Given the description of an element on the screen output the (x, y) to click on. 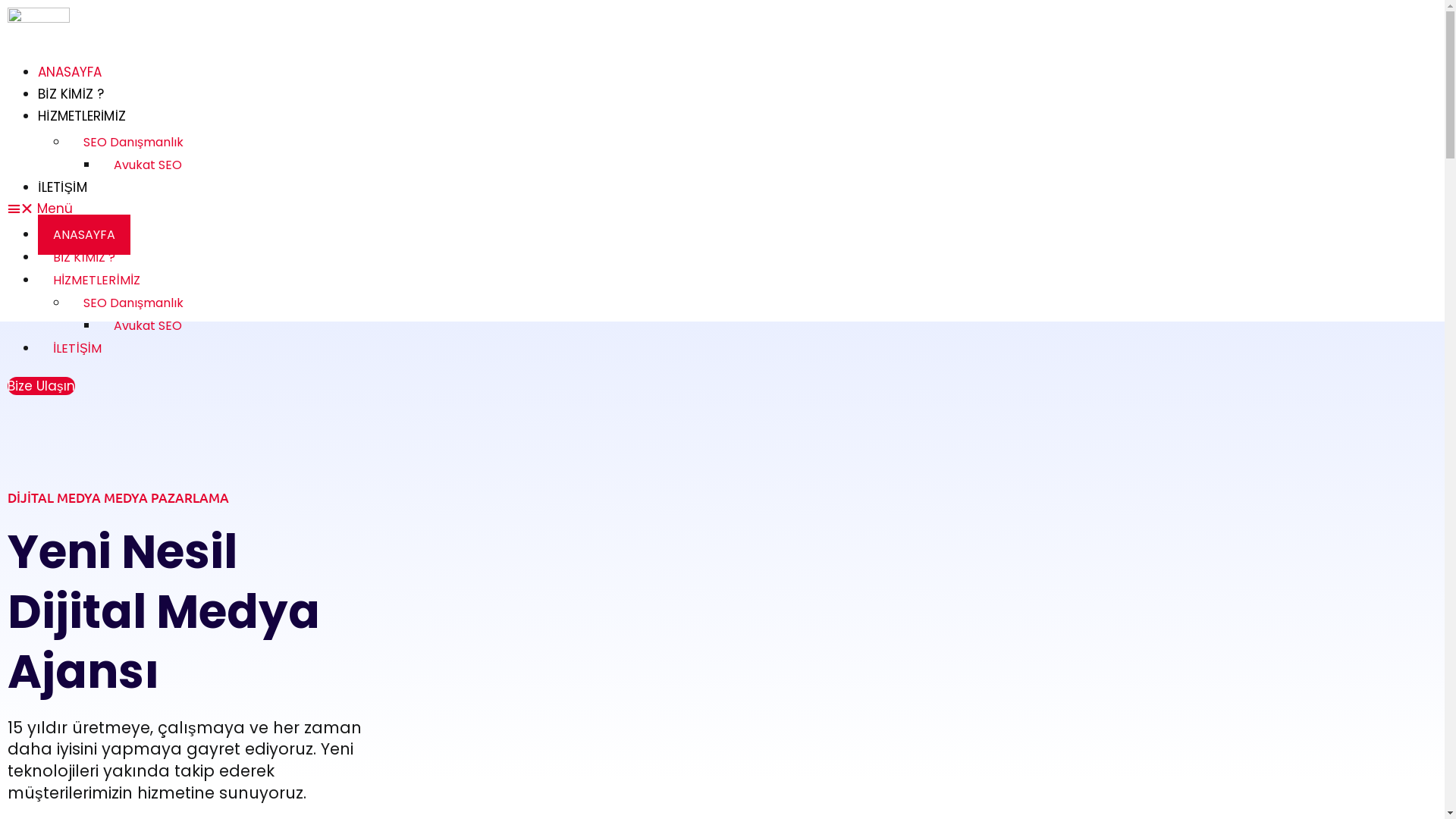
HIZMETLERIMIZ Element type: text (96, 280)
Avukat SEO Element type: text (147, 164)
BIZ KIMIZ ? Element type: text (83, 257)
HIZMETLERIMIZ Element type: text (81, 115)
Avukat SEO Element type: text (147, 325)
BIZ KIMIZ ? Element type: text (70, 93)
ANASAYFA Element type: text (69, 71)
ANASAYFA Element type: text (83, 234)
